Given the description of an element on the screen output the (x, y) to click on. 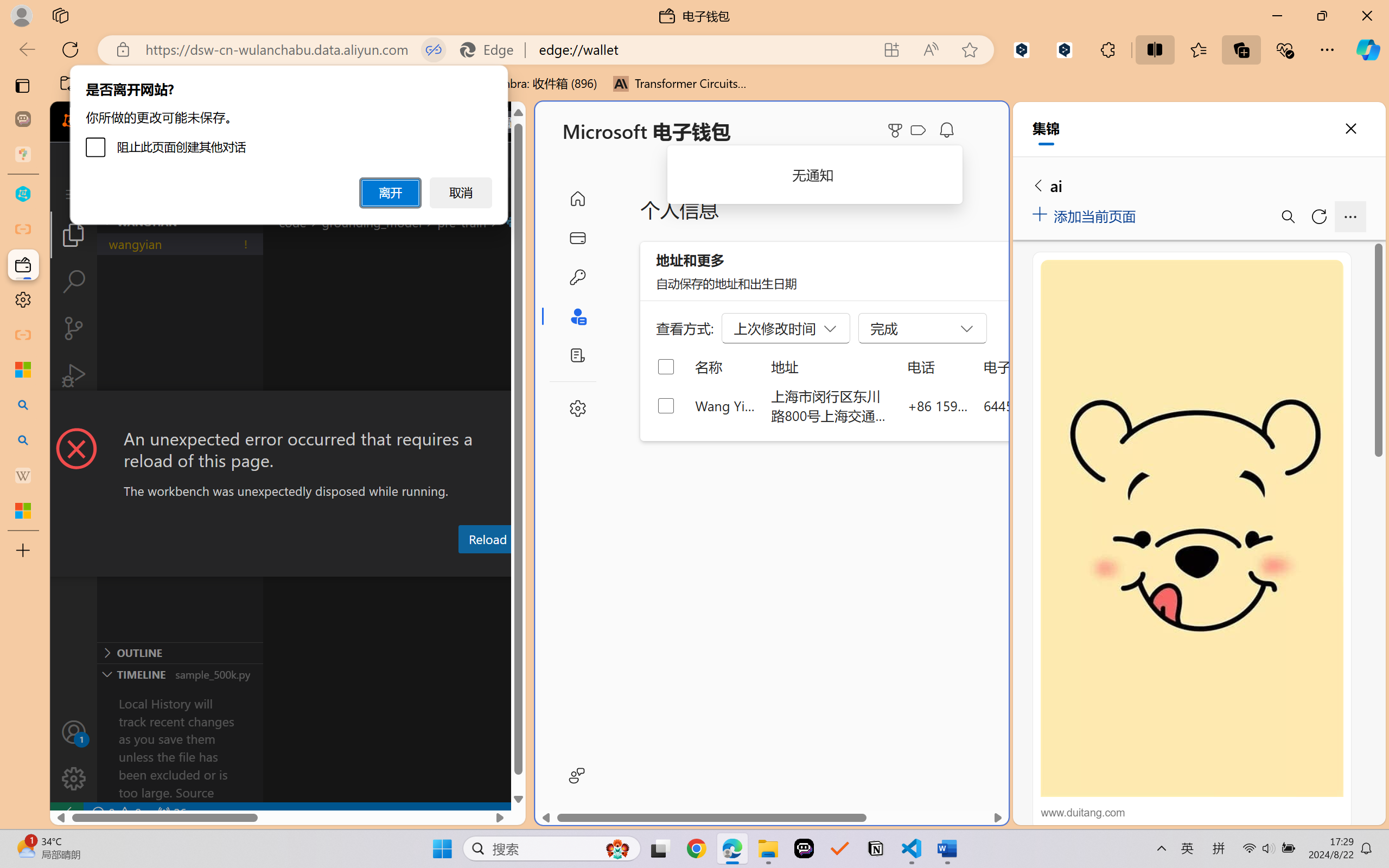
Transformer Circuits Thread (680, 83)
Reload (486, 538)
